Given the description of an element on the screen output the (x, y) to click on. 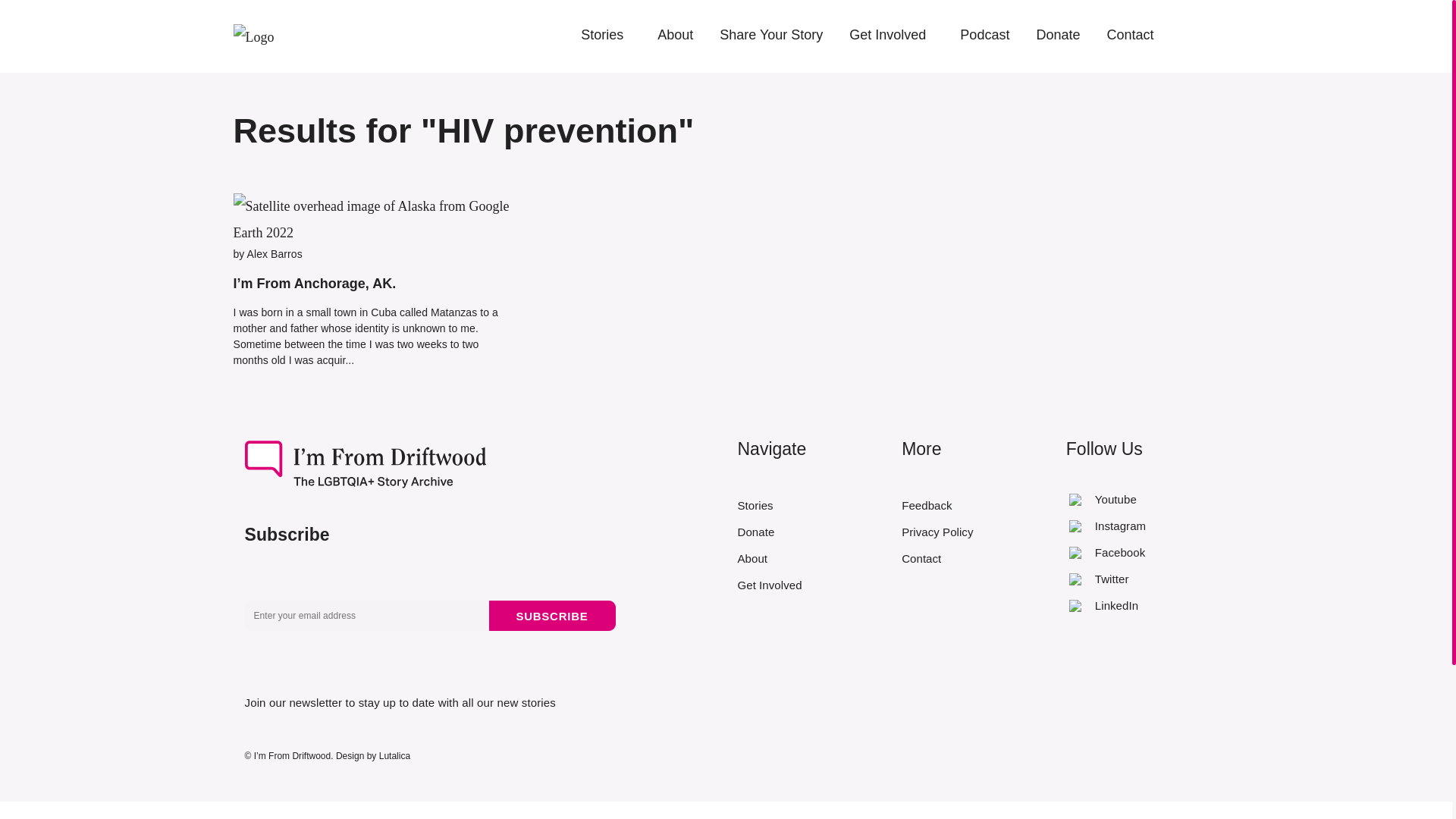
Contact (1129, 34)
Stories (601, 34)
Share Your Story (770, 34)
Donate (1057, 34)
Podcast (984, 34)
Get Involved (887, 34)
Subscribe (550, 615)
About (675, 34)
